Given the description of an element on the screen output the (x, y) to click on. 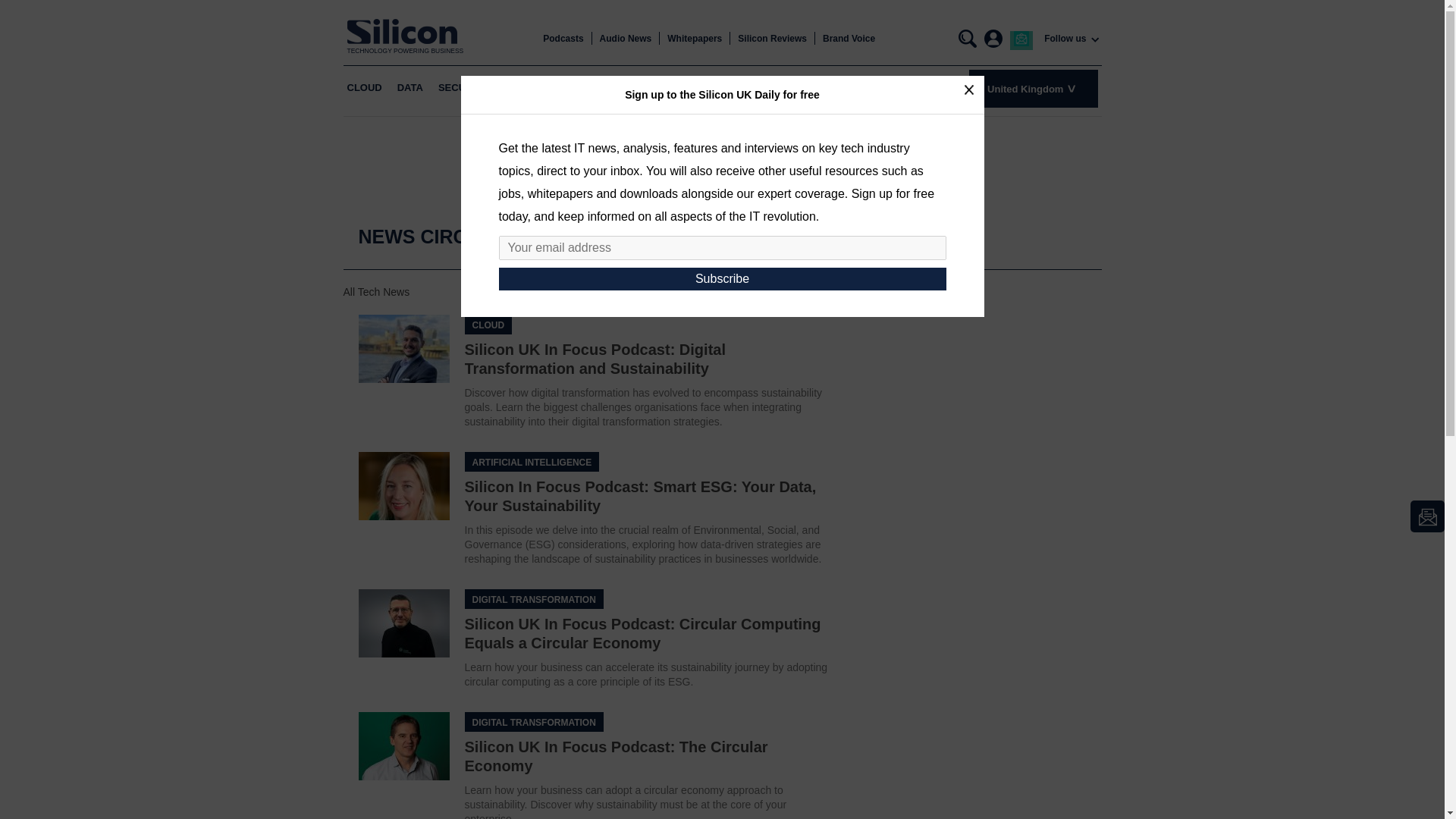
FINANCE (599, 87)
United Kingdom (1033, 88)
Silicon UK In Focus Podcast: The Circular Economy (403, 745)
Whitepapers (694, 38)
Audio News (625, 38)
MARKETING (533, 87)
category news Artificial Intelligence (531, 462)
IT LIFE (750, 87)
ENTREPRENEUR (677, 87)
Silicon Reviews (772, 38)
Silicon UK In Focus Podcast: The Circular Economy (615, 755)
